Given the description of an element on the screen output the (x, y) to click on. 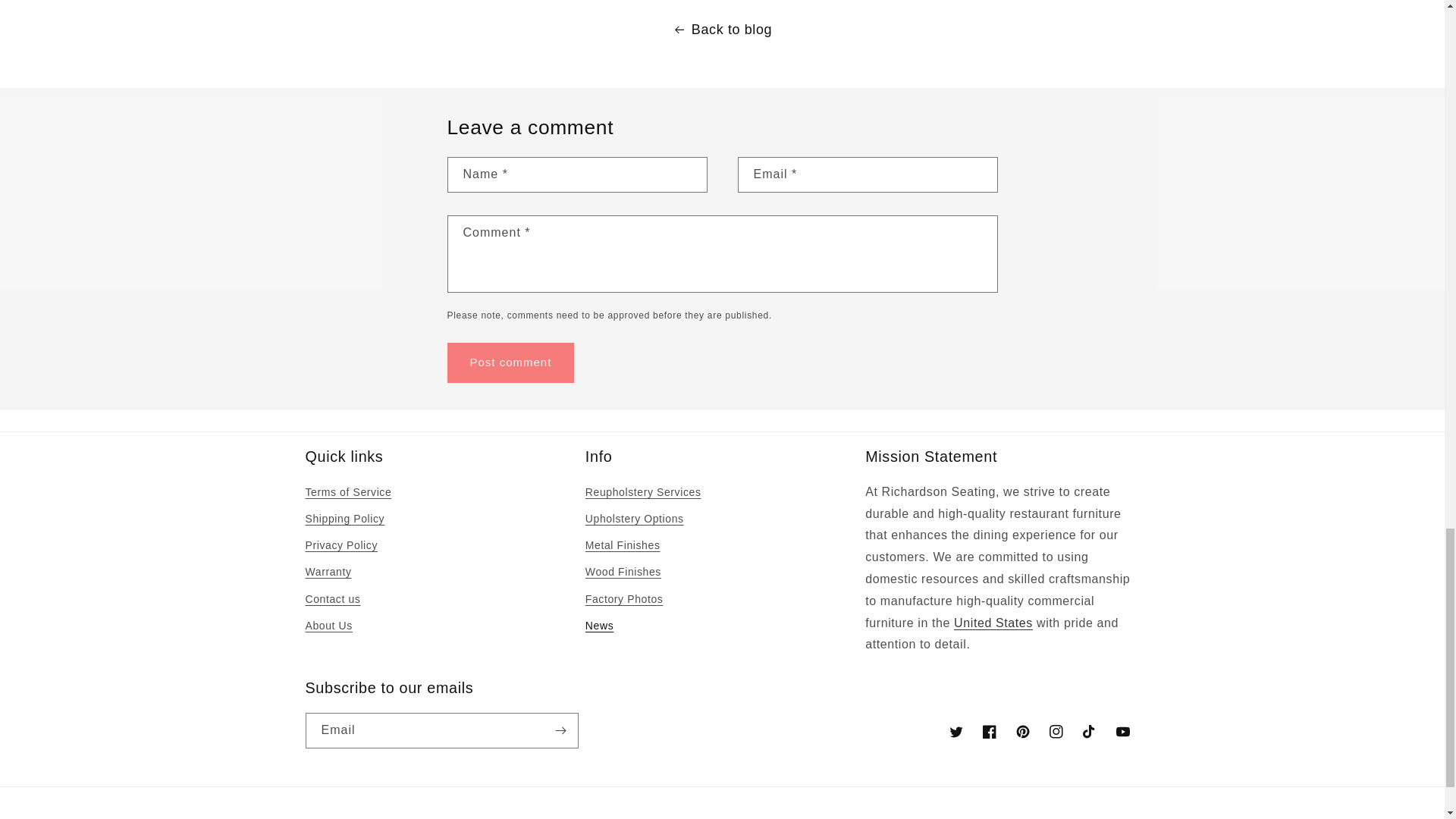
Areas that We Serve (992, 622)
Post comment (510, 363)
